Given the description of an element on the screen output the (x, y) to click on. 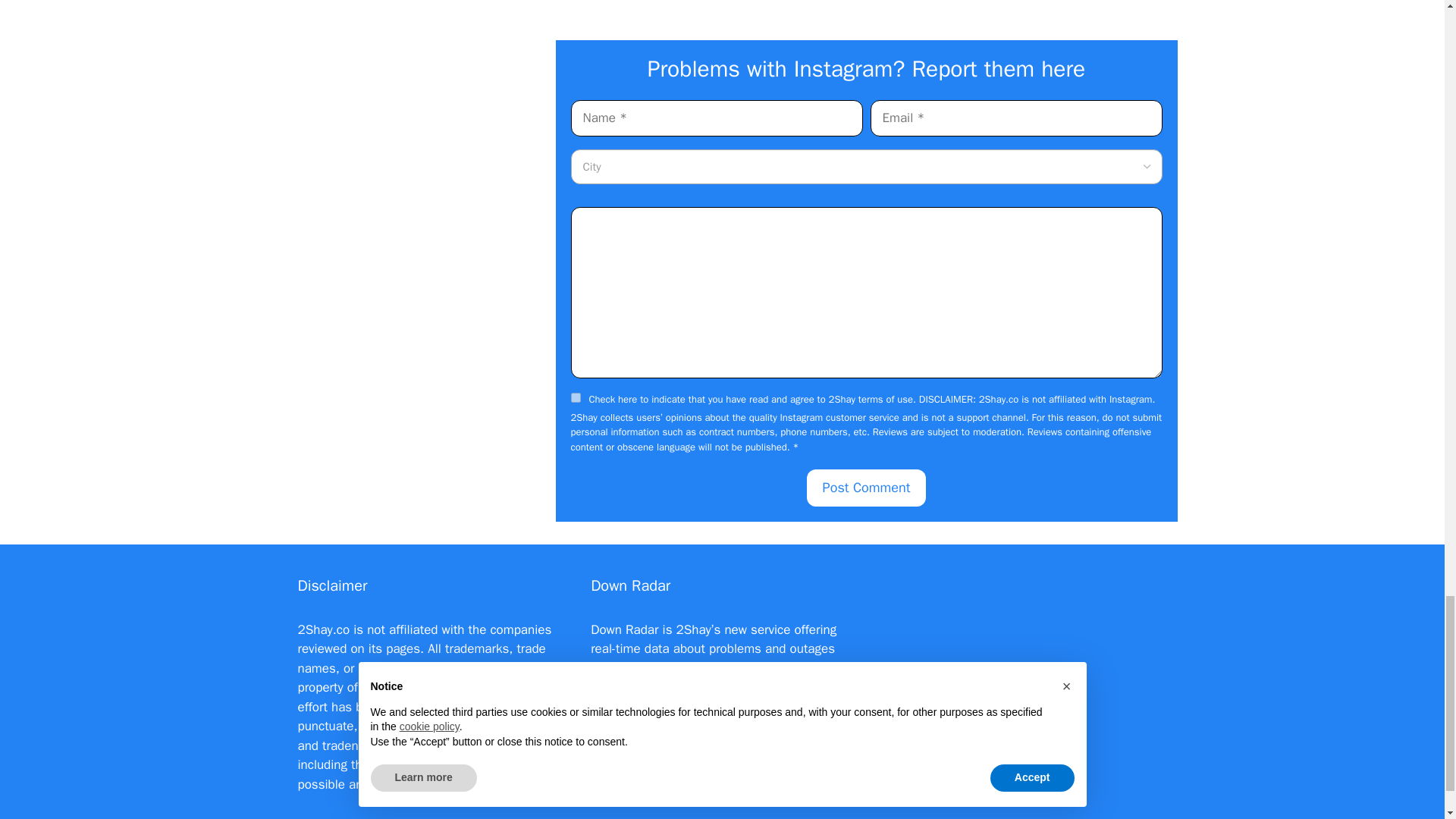
City (590, 166)
yes (574, 397)
2Shay terms of use (870, 399)
Post Comment (866, 487)
Check out Down Radar! (656, 745)
Post Comment (866, 487)
Down Radar (624, 629)
